Given the description of an element on the screen output the (x, y) to click on. 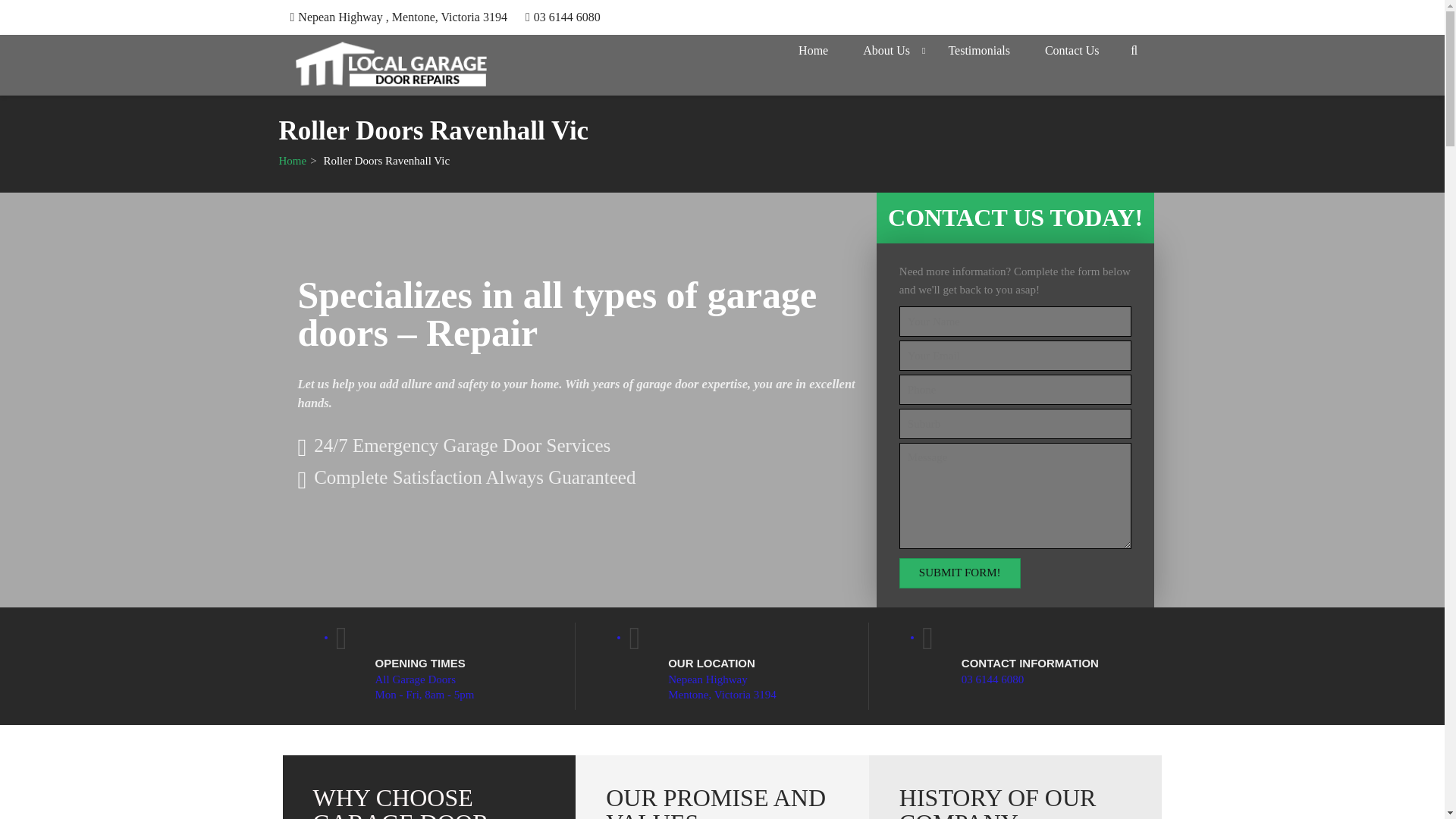
03 6144 6080 (566, 16)
SUBMIT FORM! (959, 572)
Contact Us (1072, 50)
Home (813, 50)
Contact Us (1072, 50)
About Us (885, 50)
Home (293, 160)
Testimonials (979, 50)
Home (293, 160)
SUBMIT FORM! (959, 572)
Home (813, 50)
Testimonials (979, 50)
About Us (885, 50)
